Given the description of an element on the screen output the (x, y) to click on. 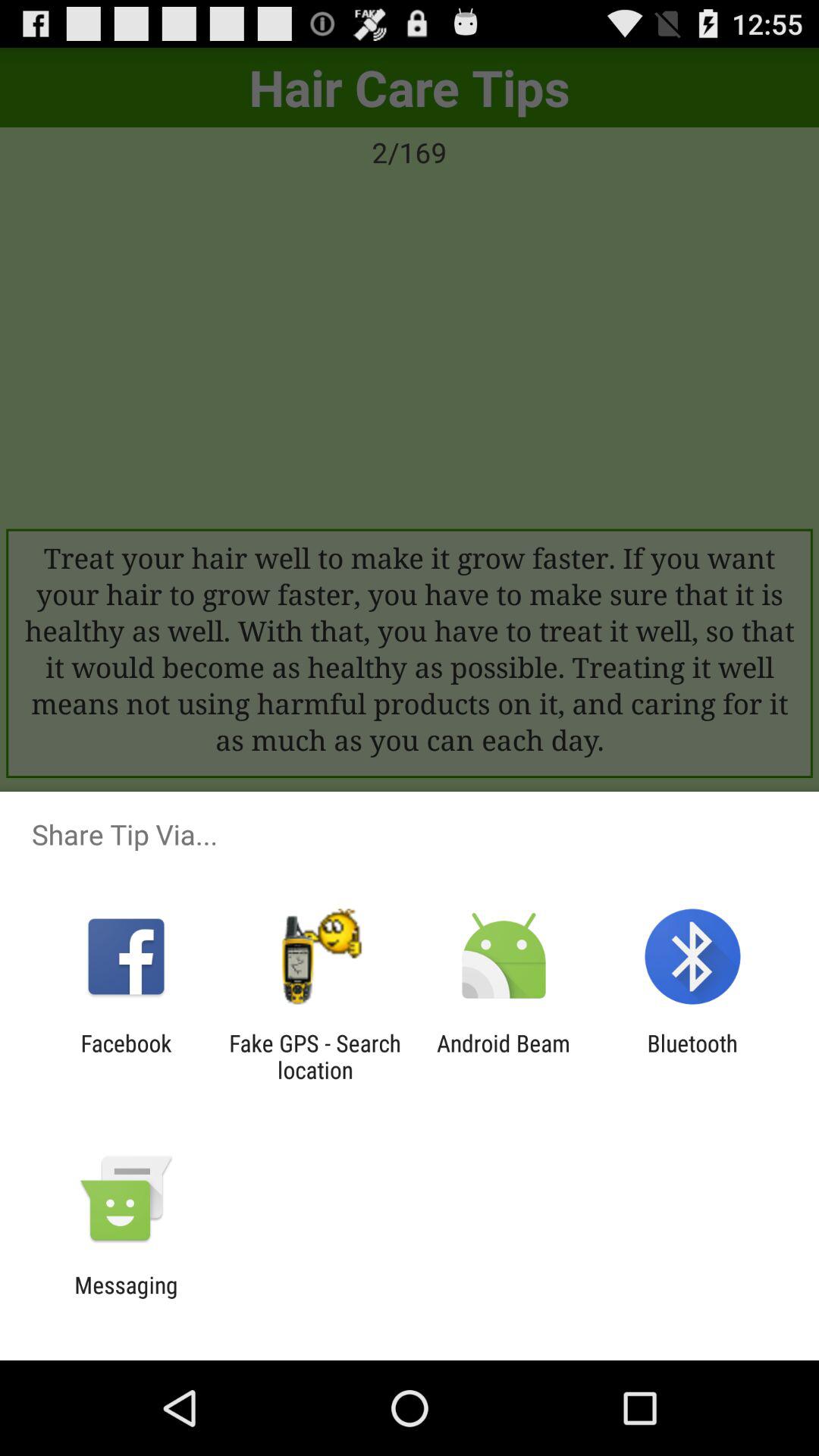
choose icon next to fake gps search icon (125, 1056)
